Given the description of an element on the screen output the (x, y) to click on. 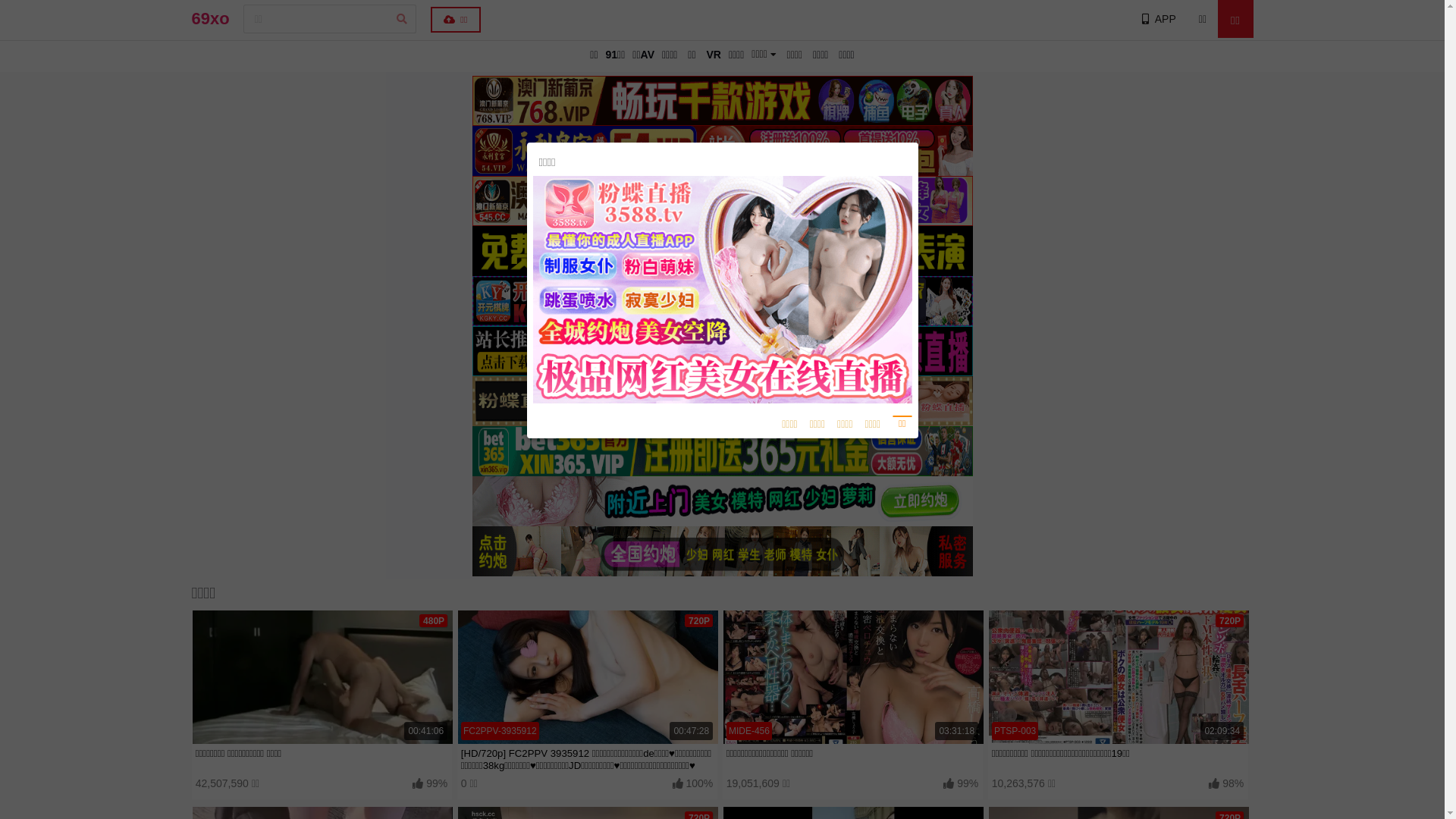
APP Element type: text (1157, 18)
00:47:28
720P
FC2PPV-3935912 Element type: text (586, 676)
00:41:06
480P Element type: text (321, 676)
https://69xo8.xyz Element type: text (719, 298)
03:31:18
MIDE-456 Element type: text (851, 676)
https://69xo6.xyz Element type: text (719, 341)
VR Element type: text (713, 54)
02:09:34
720P
PTSP-003 Element type: text (1117, 676)
https://69xo10.xyz Element type: text (722, 277)
69xo Element type: text (210, 18)
https://69xo7.xyz Element type: text (719, 319)
